Given the description of an element on the screen output the (x, y) to click on. 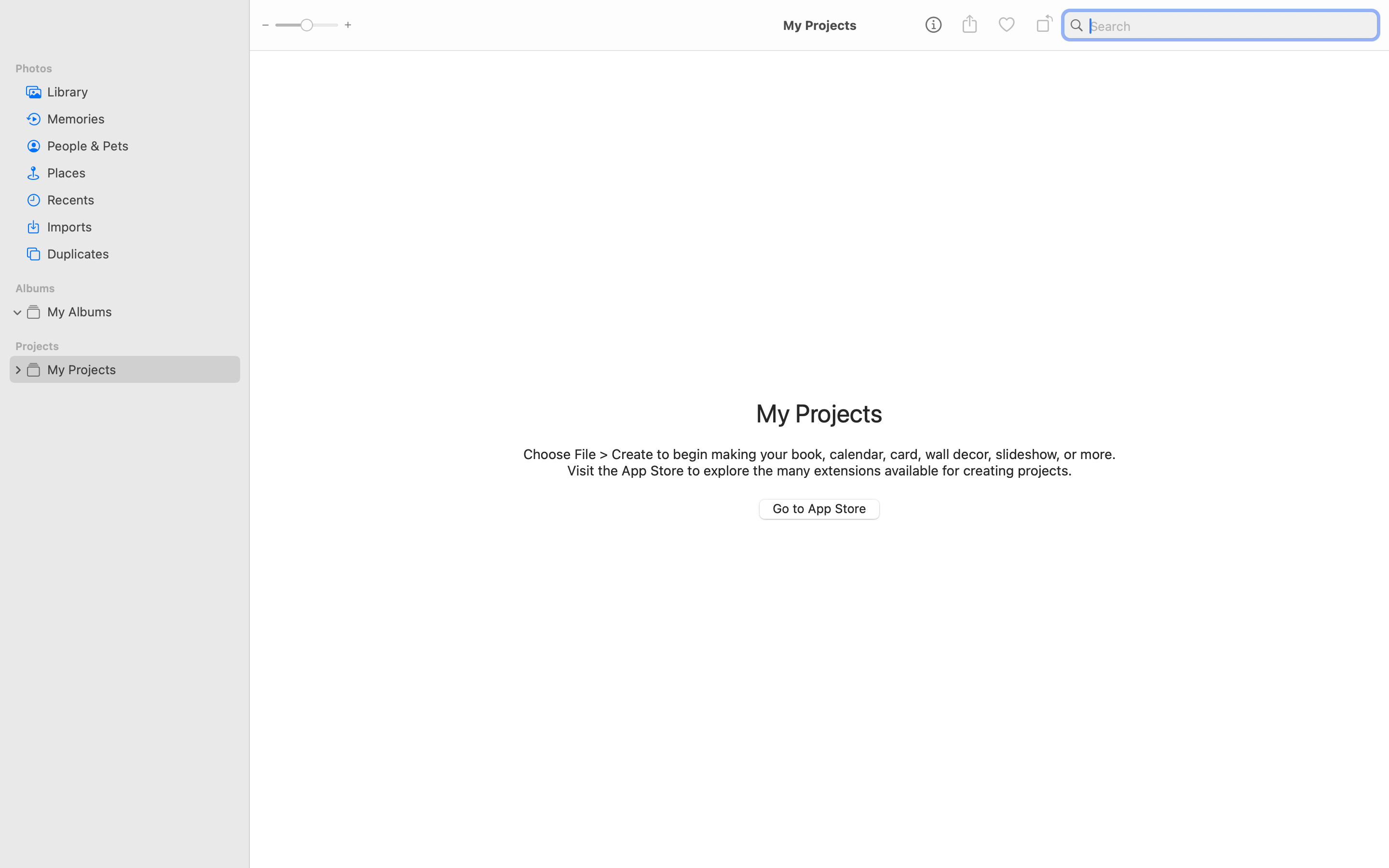
Albums Element type: AXStaticText (130, 288)
Choose File > Create to begin making your book, calendar, card, wall decor, slideshow, or more.
Visit the App Store to explore the many extensions available for creating projects. Element type: AXStaticText (818, 461)
5.0 Element type: AXSlider (305, 24)
Duplicates Element type: AXStaticText (139, 253)
Recents Element type: AXStaticText (139, 199)
